Given the description of an element on the screen output the (x, y) to click on. 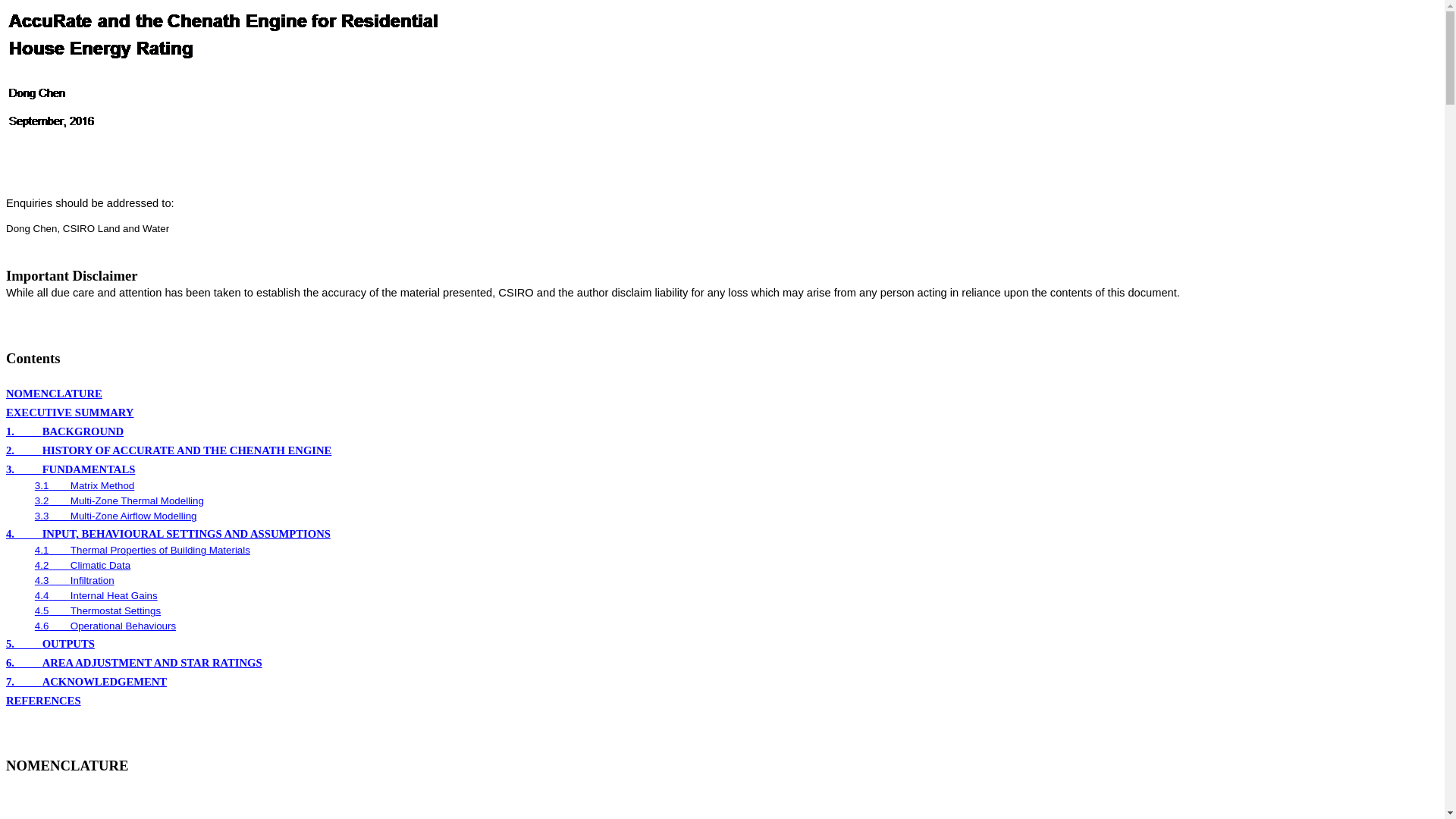
EXECUTIVE SUMMARY Element type: text (69, 412)
3.1       Matrix Method Element type: text (84, 485)
3.2       Multi-Zone Thermal Modelling Element type: text (118, 500)
4.5       Thermostat Settings Element type: text (97, 610)
4.1       Thermal Properties of Building Materials Element type: text (142, 549)
5.         OUTPUTS Element type: text (50, 643)
REFERENCES Element type: text (43, 700)
4.4       Internal Heat Gains Element type: text (95, 595)
4.3       Infiltration Element type: text (74, 580)
2.         HISTORY OF ACCURATE AND THE CHENATH ENGINE Element type: text (168, 450)
4.         INPUT, BEHAVIOURAL SETTINGS AND ASSUMPTIONS Element type: text (168, 533)
NOMENCLATURE Element type: text (67, 765)
4.6       Operational Behaviours Element type: text (104, 625)
1.         BACKGROUND Element type: text (64, 431)
6.         AREA ADJUSTMENT AND STAR RATINGS Element type: text (134, 662)
NOMENCLATURE Element type: text (54, 393)
4.2       Climatic Data Element type: text (82, 565)
3.3       Multi-Zone Airflow Modelling Element type: text (115, 515)
7.         ACKNOWLEDGEMENT Element type: text (86, 681)
3.         FUNDAMENTALS Element type: text (70, 469)
